Given the description of an element on the screen output the (x, y) to click on. 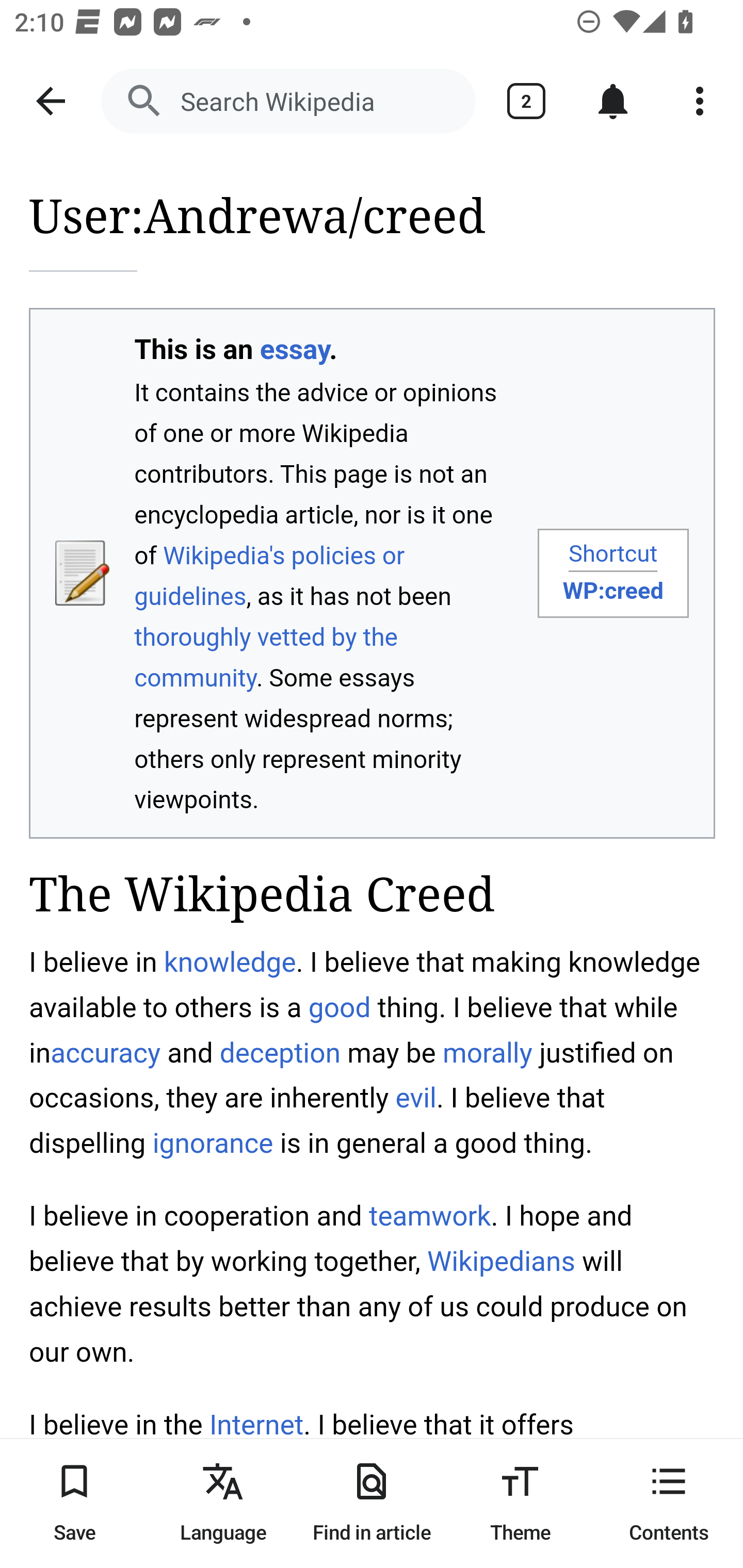
Show tabs 2 (525, 100)
Notifications (612, 100)
Navigate up (50, 101)
More options (699, 101)
Search Wikipedia (288, 100)
essay (293, 349)
Wikipedia's policies or guidelines (269, 575)
Shortcut (612, 553)
WP:creed (612, 590)
thoroughly vetted by the community (265, 656)
knowledge (229, 962)
good (339, 1007)
accuracy (106, 1053)
deception (279, 1053)
morally (487, 1053)
evil (415, 1098)
ignorance (212, 1142)
teamwork (429, 1214)
Wikipedians (500, 1260)
Internet (255, 1425)
Save (74, 1502)
Language (222, 1502)
Find in article (371, 1502)
Theme (519, 1502)
Contents (668, 1502)
